Given the description of an element on the screen output the (x, y) to click on. 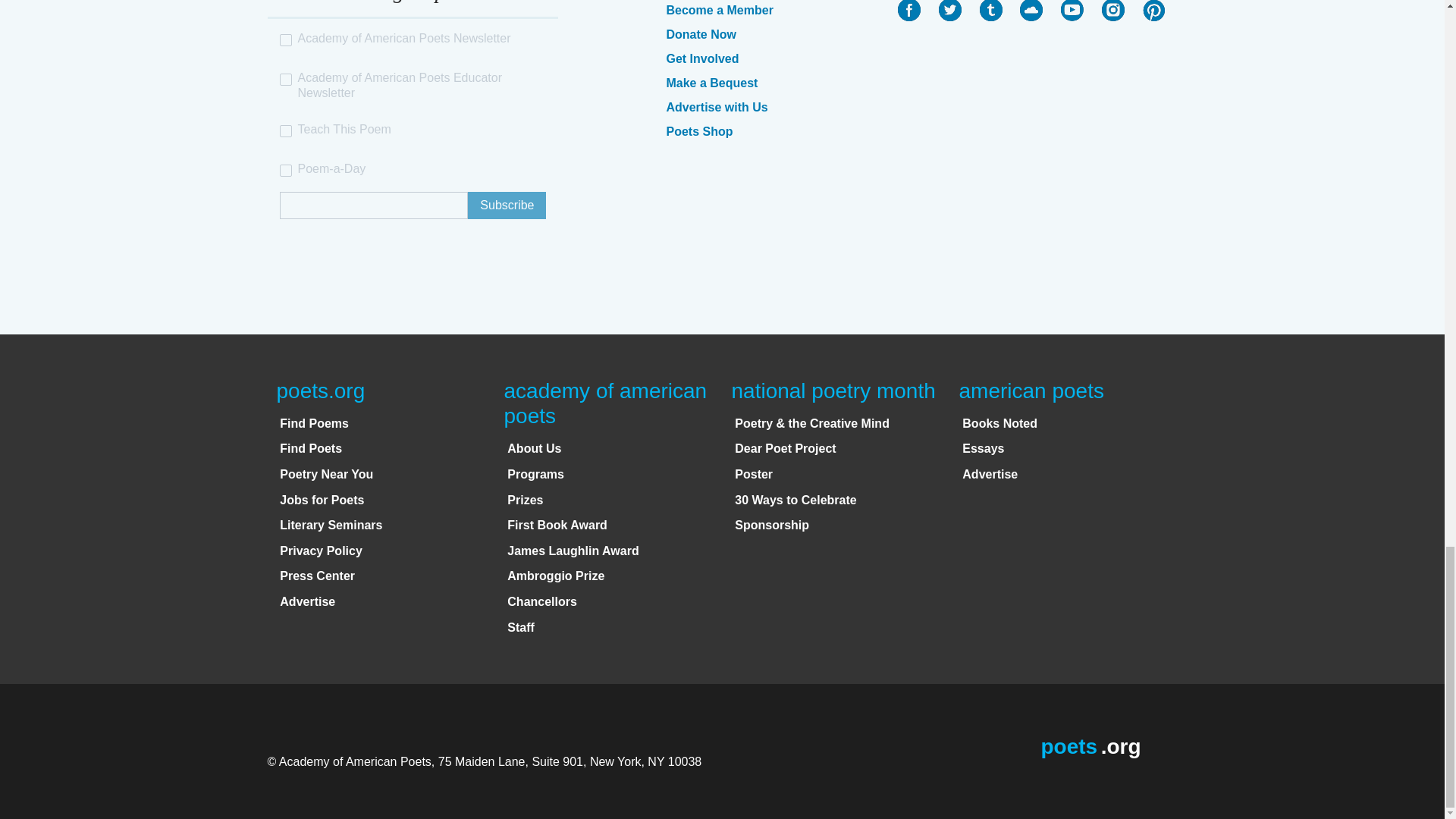
Subscribe (506, 205)
Jobs for Poets (321, 499)
Poetry Near You (325, 473)
